Given the description of an element on the screen output the (x, y) to click on. 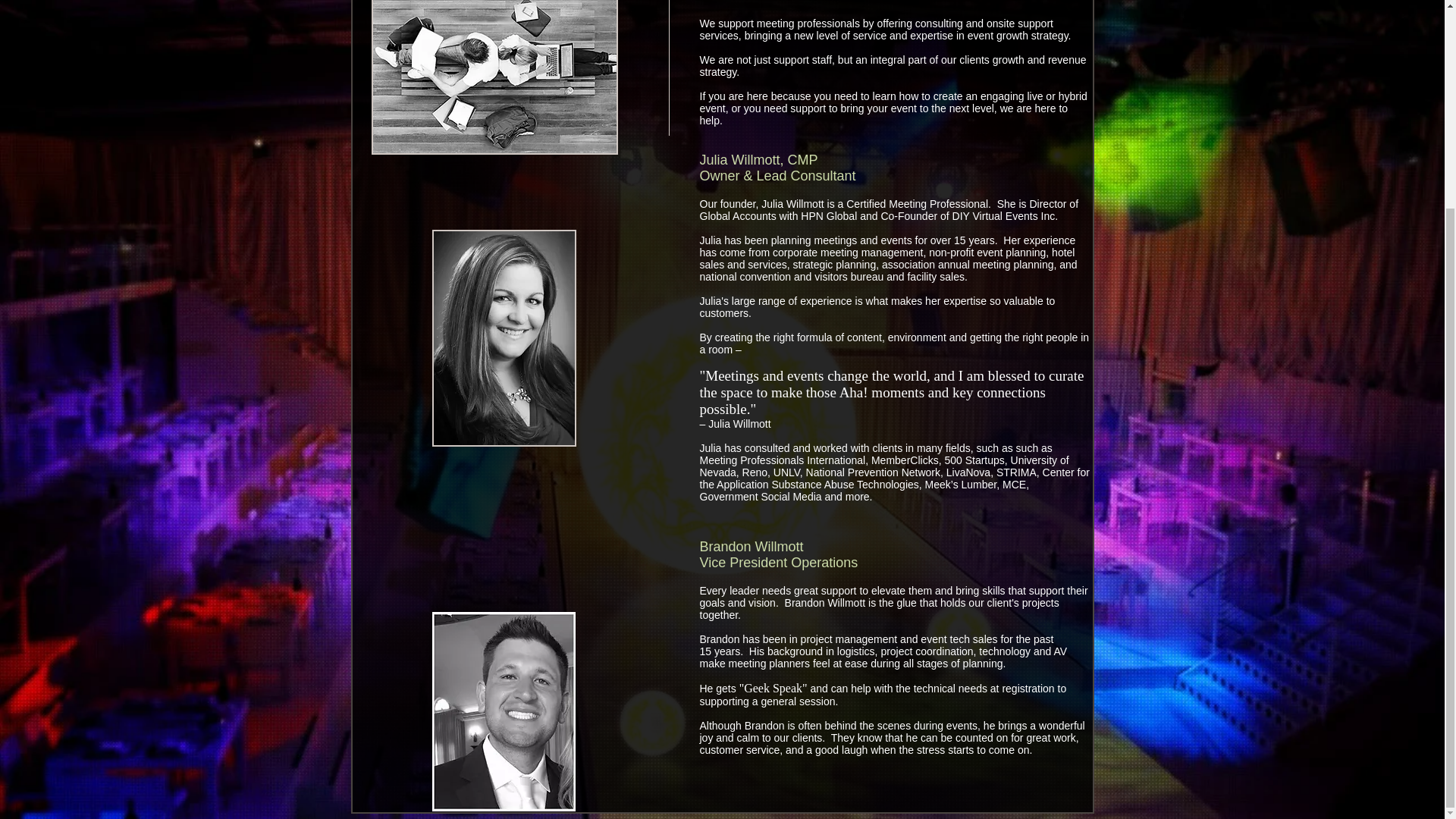
BW students doing work (494, 77)
